Given the description of an element on the screen output the (x, y) to click on. 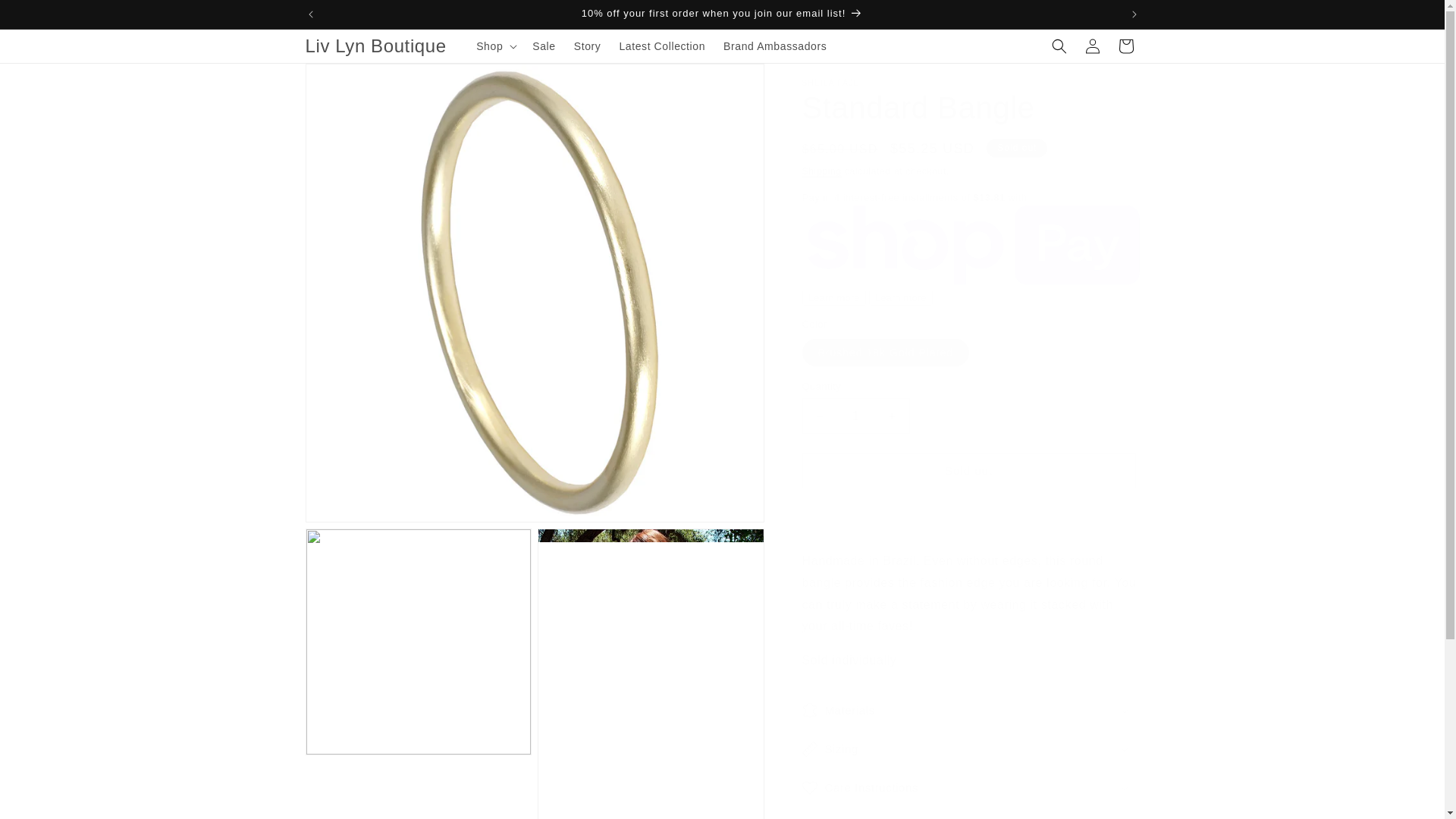
1 (856, 416)
Liv Lyn Boutique (375, 46)
Skip to content (45, 17)
